Given the description of an element on the screen output the (x, y) to click on. 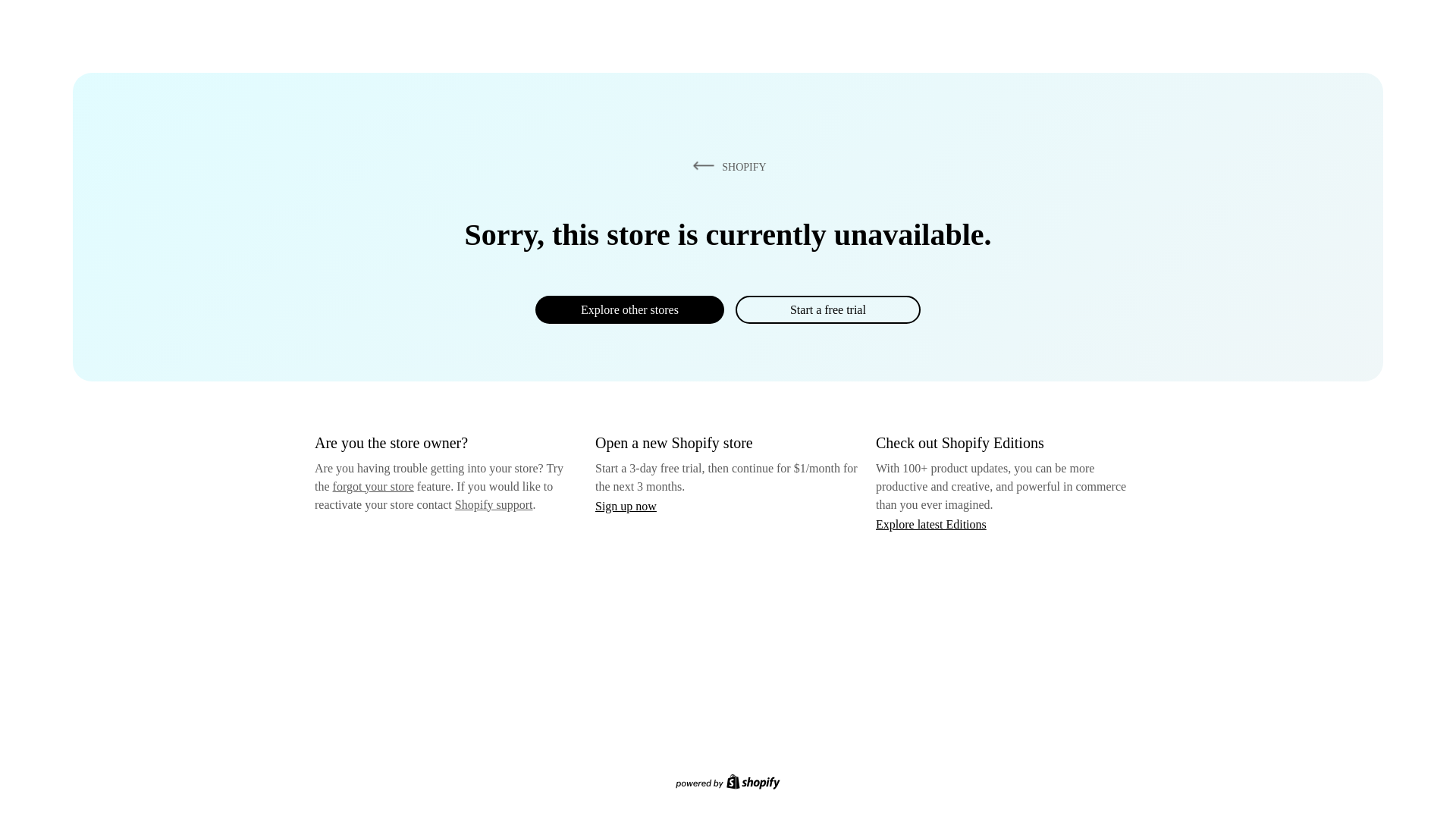
Shopify support (493, 504)
SHOPIFY (726, 166)
Sign up now (625, 505)
Explore latest Editions (931, 523)
Explore other stores (629, 309)
forgot your store (373, 486)
Start a free trial (827, 309)
